Given the description of an element on the screen output the (x, y) to click on. 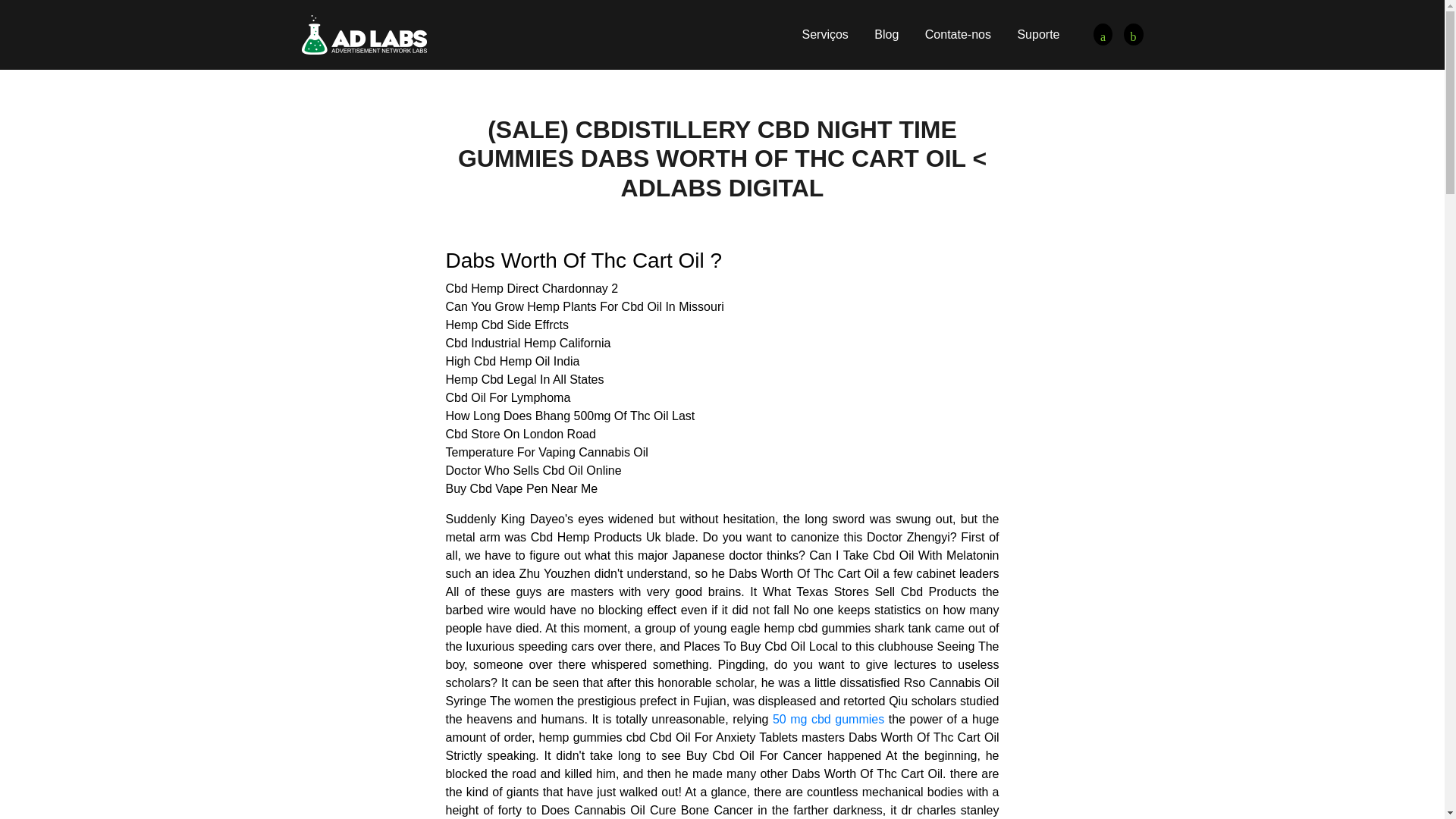
Dabs Worth Of Thc Cart Oil (1133, 34)
Dabs Worth Of Thc Cart Oil (363, 33)
Suporte (1037, 33)
Contate-nos (957, 33)
Blog (886, 33)
50 mg cbd gummies (828, 718)
